Given the description of an element on the screen output the (x, y) to click on. 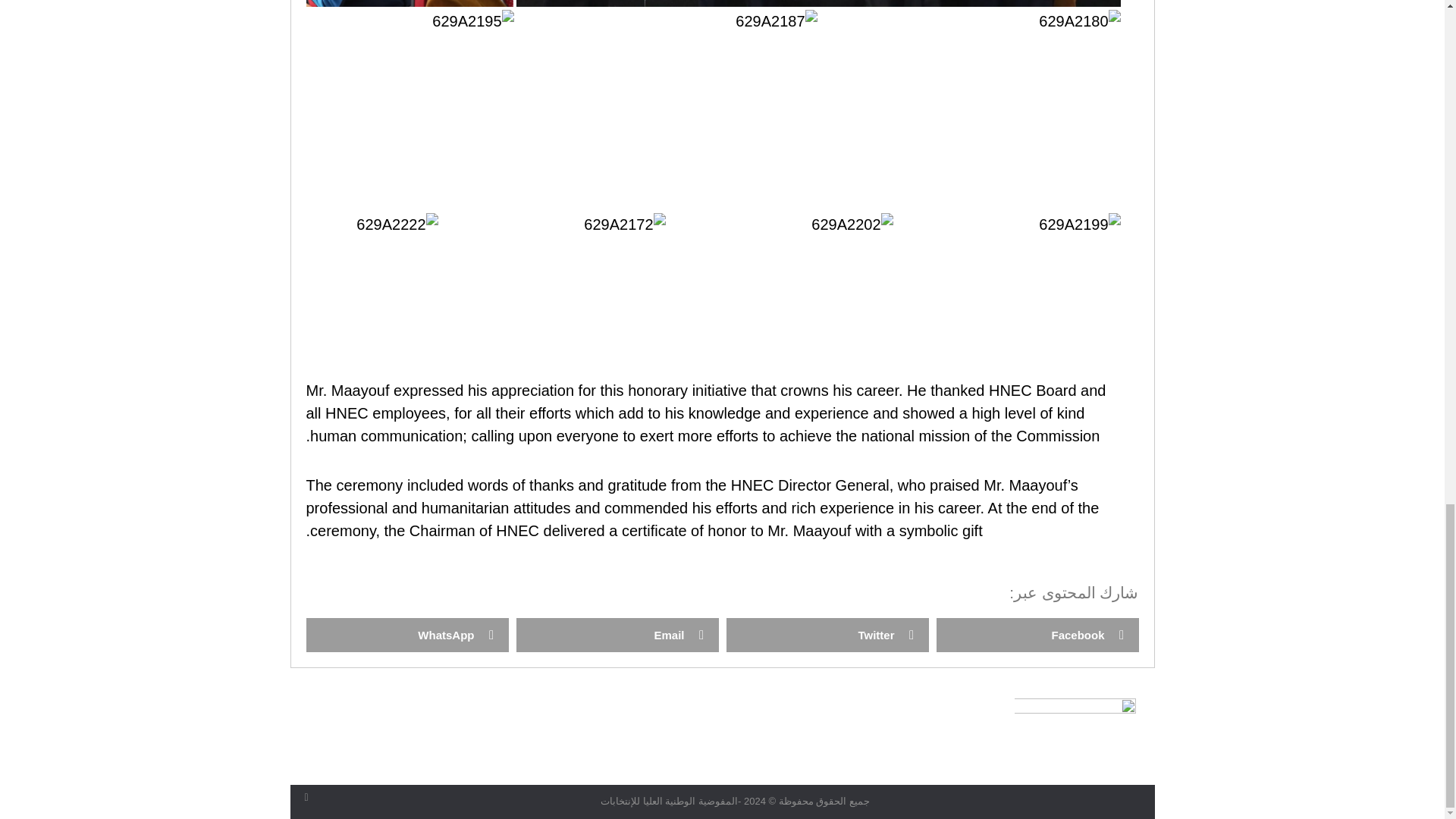
629A2222 (397, 223)
629A2180 (1079, 20)
629A2187 (775, 20)
629A2202 (851, 223)
629A2199 (1079, 223)
629A2172 (624, 223)
629A2195 (472, 20)
629A2186 (363, 3)
